Given the description of an element on the screen output the (x, y) to click on. 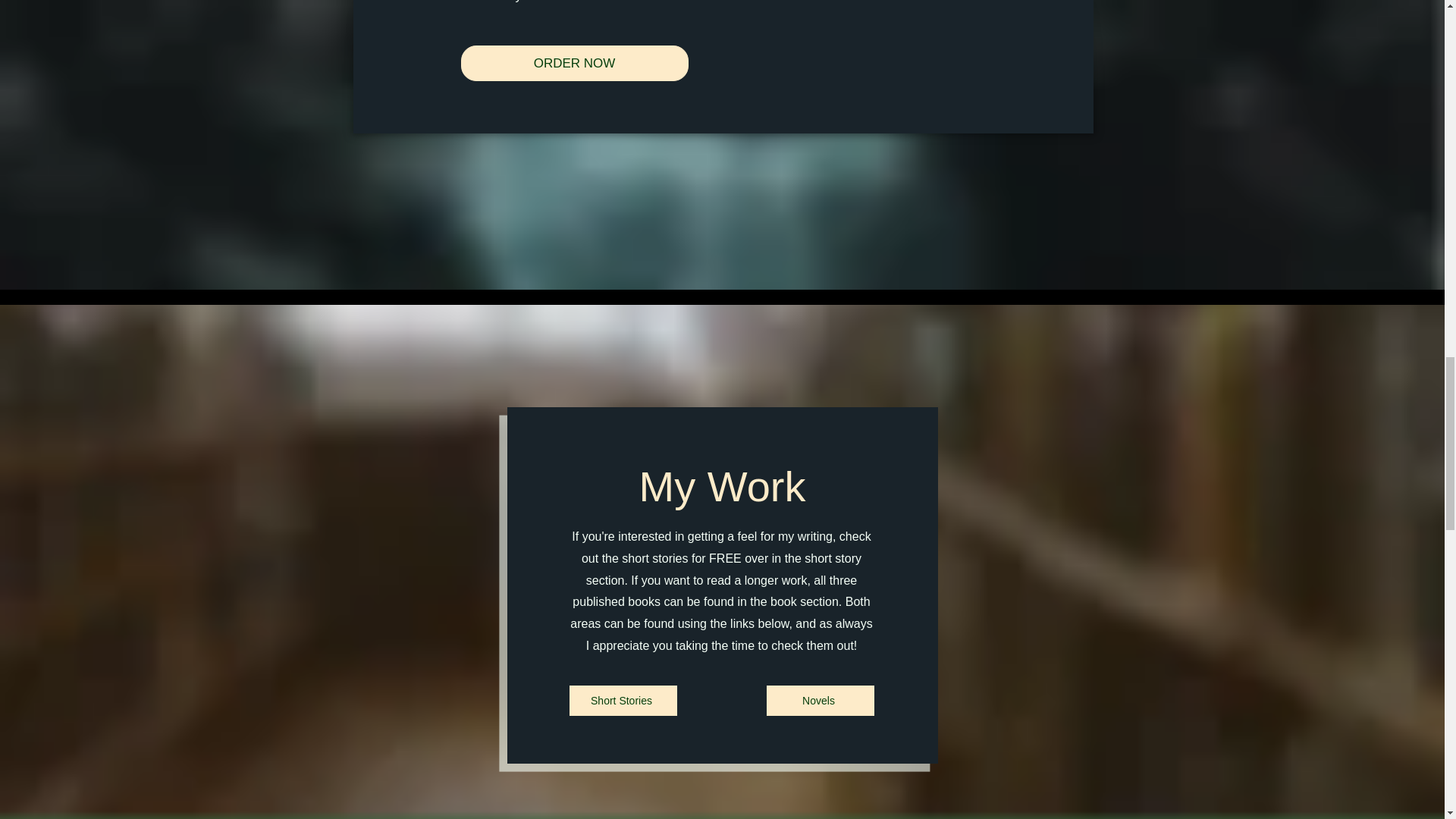
Short Stories (623, 700)
ORDER NOW (574, 63)
Novels (819, 700)
